Given the description of an element on the screen output the (x, y) to click on. 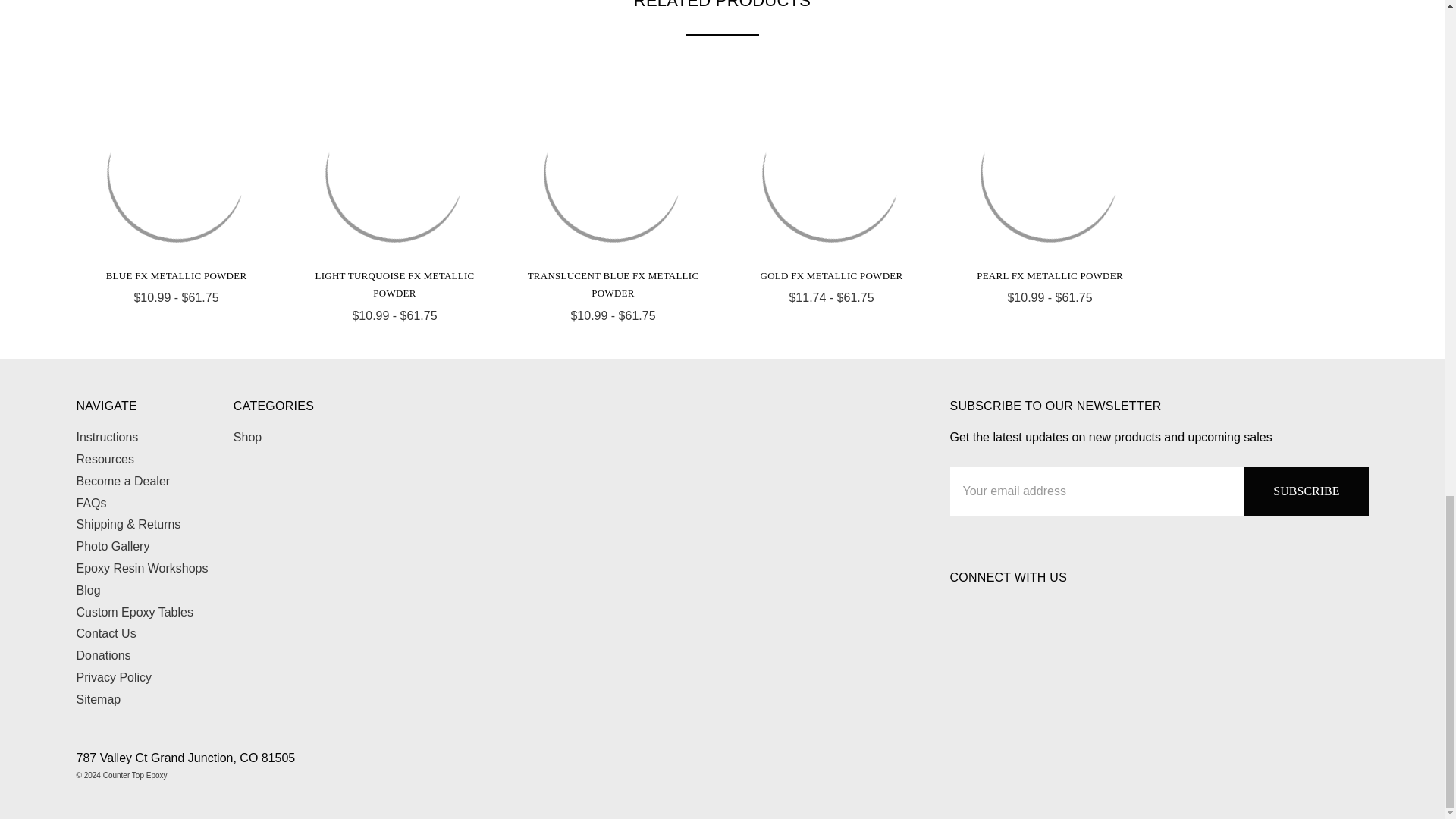
Blue FX Metallic Powder (176, 171)
Gold FX Metallic Powder  (831, 171)
Subscribe (1306, 490)
Light Turquoise FX Metallic Powder (394, 171)
Pearl FX Metallic Powder (1049, 171)
Translucent Blue FX Metallic Powder (612, 171)
